Given the description of an element on the screen output the (x, y) to click on. 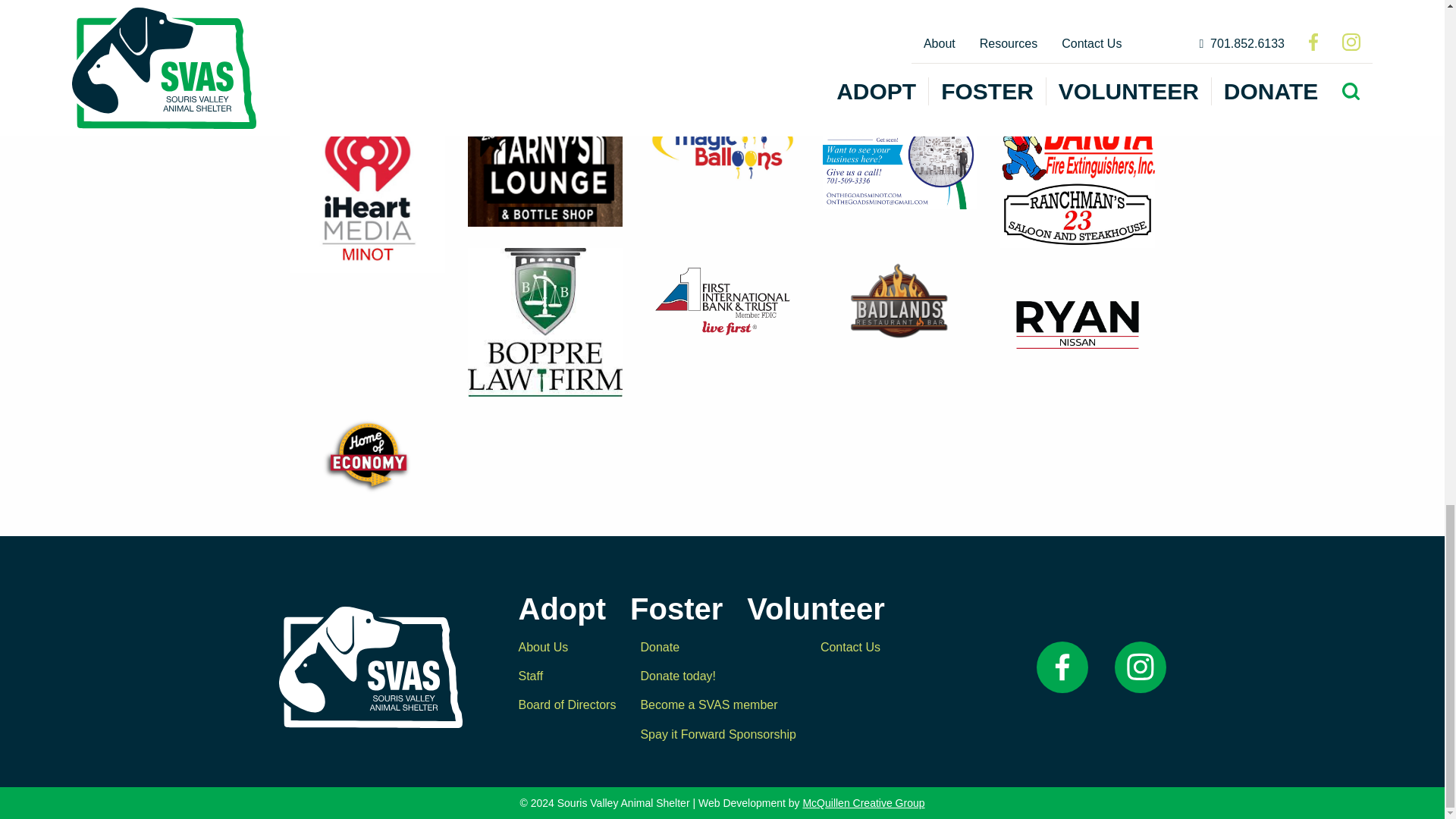
Boppre Law Firm (544, 322)
On the Go Advertising (899, 159)
iHeart Media Minot (366, 191)
Dakota Fire Extinguishers, Inc. (1076, 145)
Ryan Nissan (1076, 325)
badlands-restaurant (899, 301)
Home of Economy (366, 456)
Magic Balloons (722, 145)
